Given the description of an element on the screen output the (x, y) to click on. 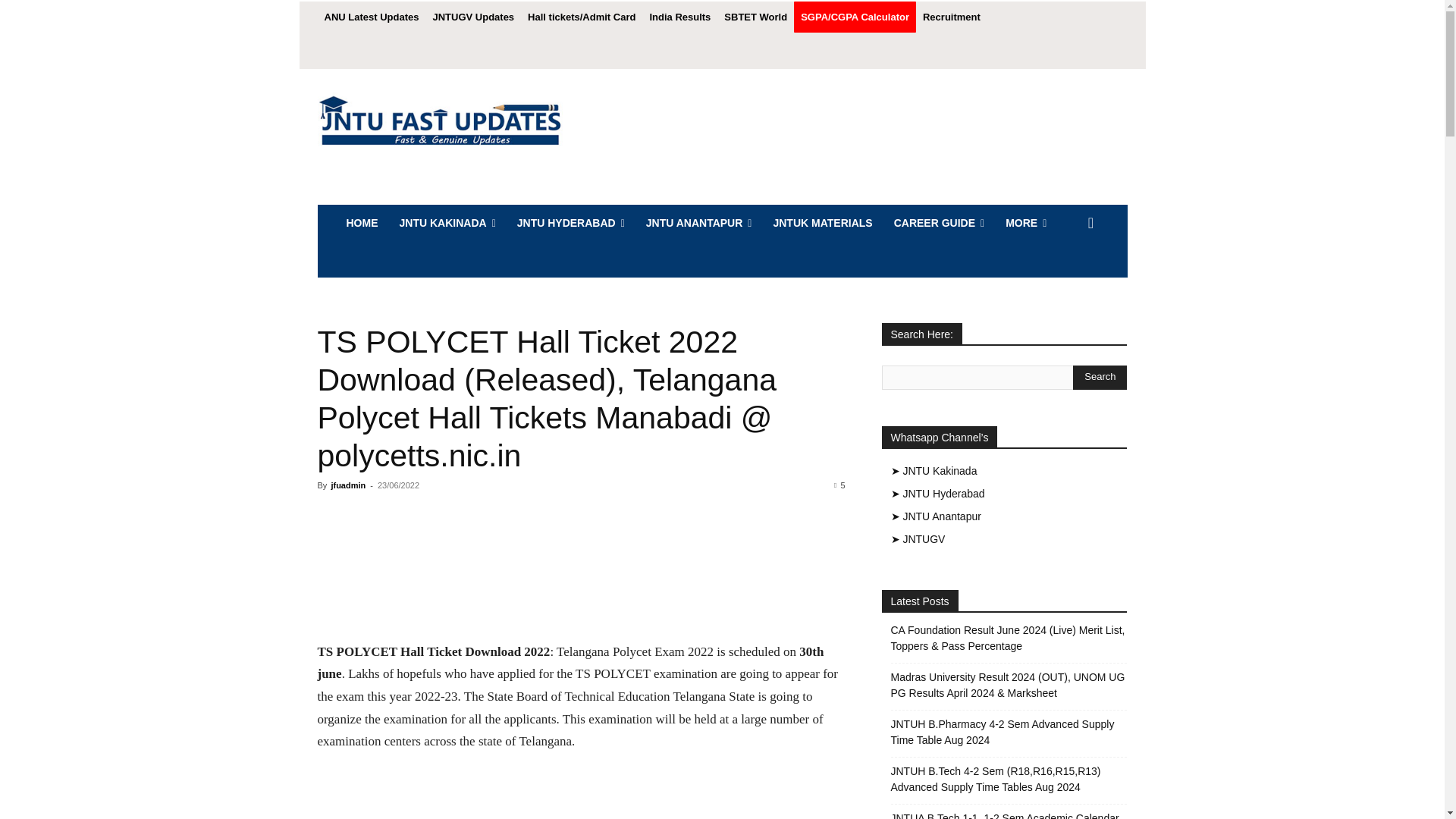
Advertisement (580, 796)
Advertisement (580, 574)
Search (1099, 377)
